Given the description of an element on the screen output the (x, y) to click on. 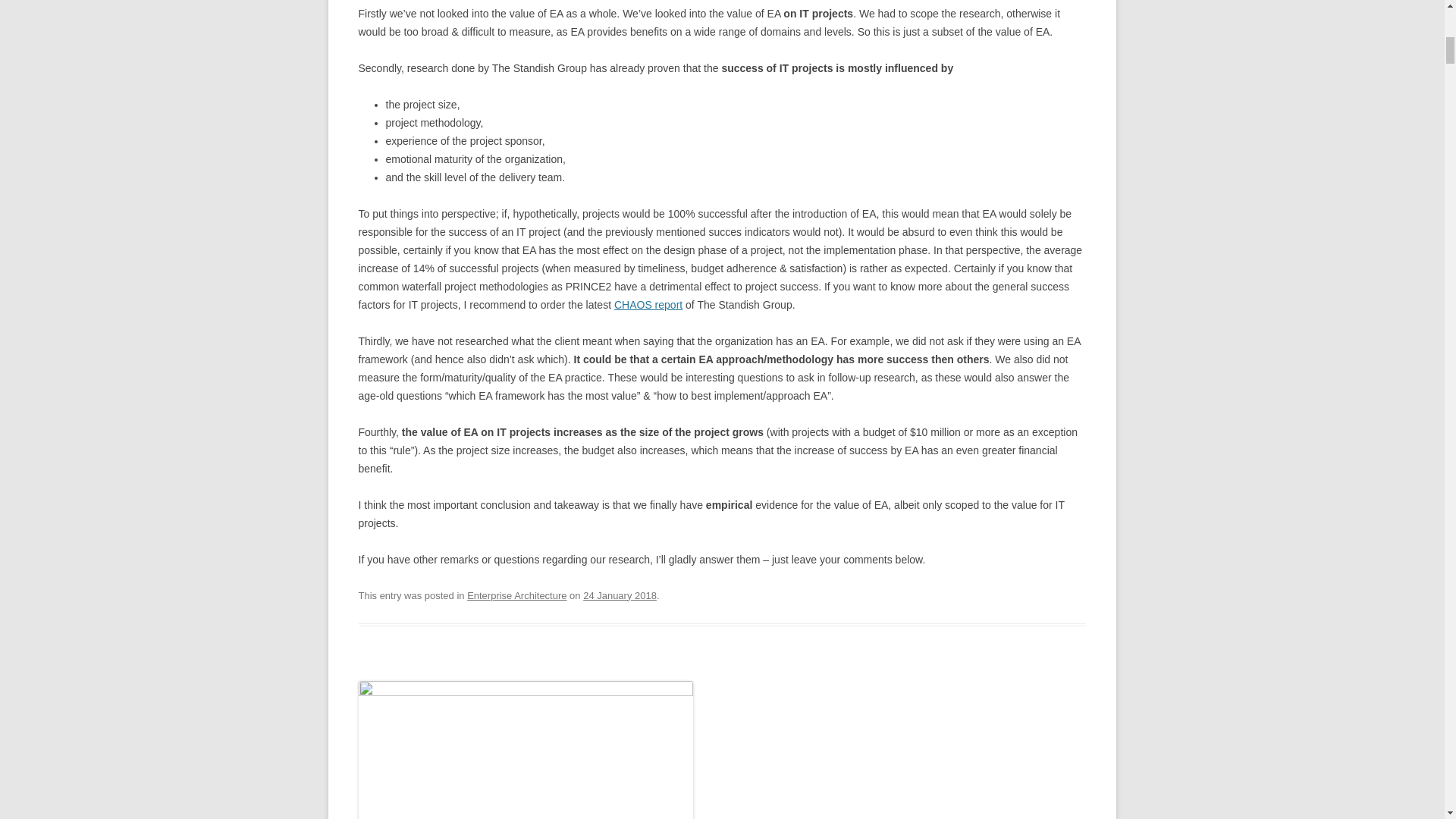
24 January 2018 (619, 595)
Enterprise Architecture (516, 595)
04:26 (619, 595)
CHAOS report (648, 304)
